Given the description of an element on the screen output the (x, y) to click on. 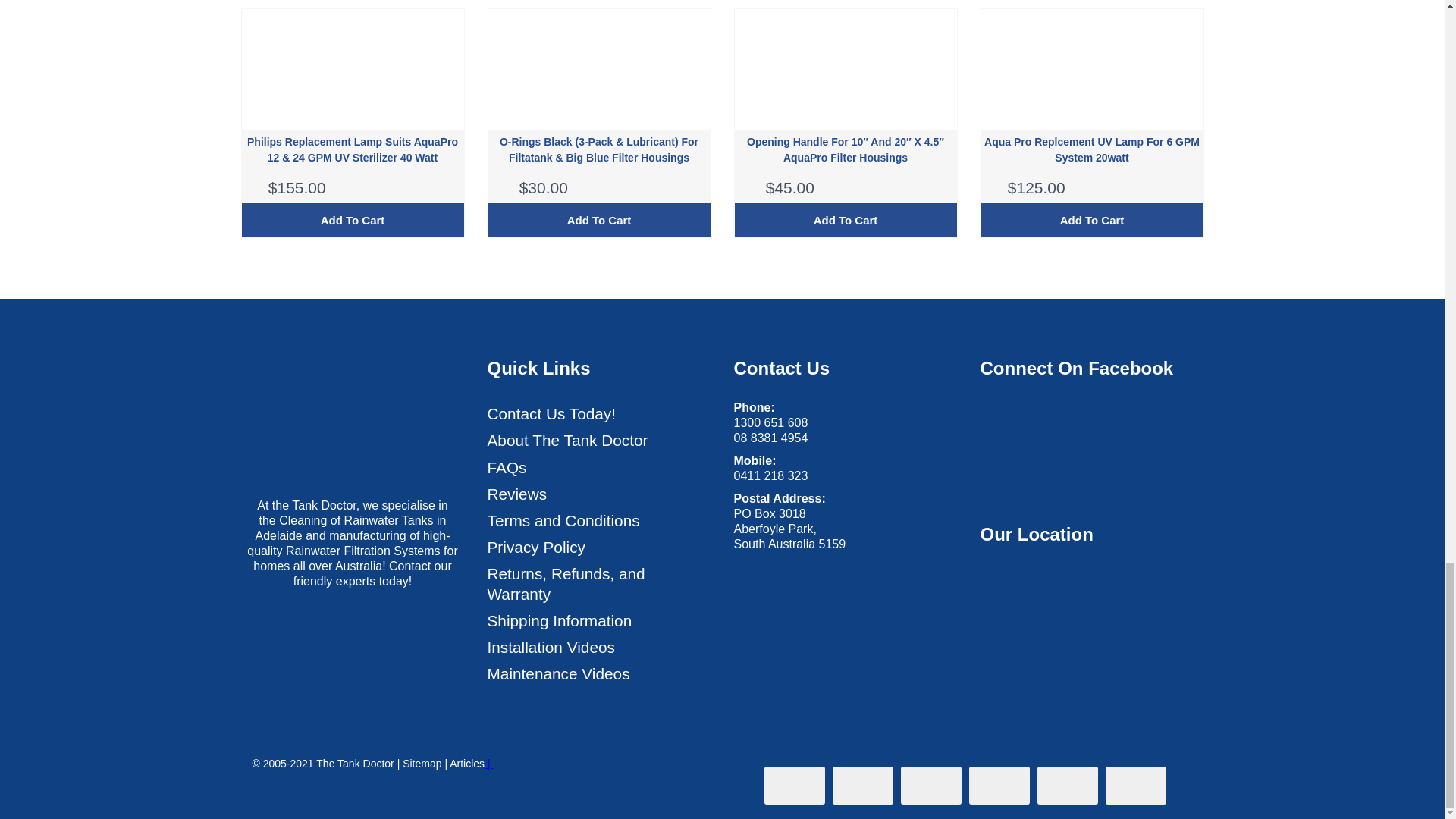
Aqua Pro Replcement UV Lamp for 6 GPM System 20watt (1092, 150)
